Given the description of an element on the screen output the (x, y) to click on. 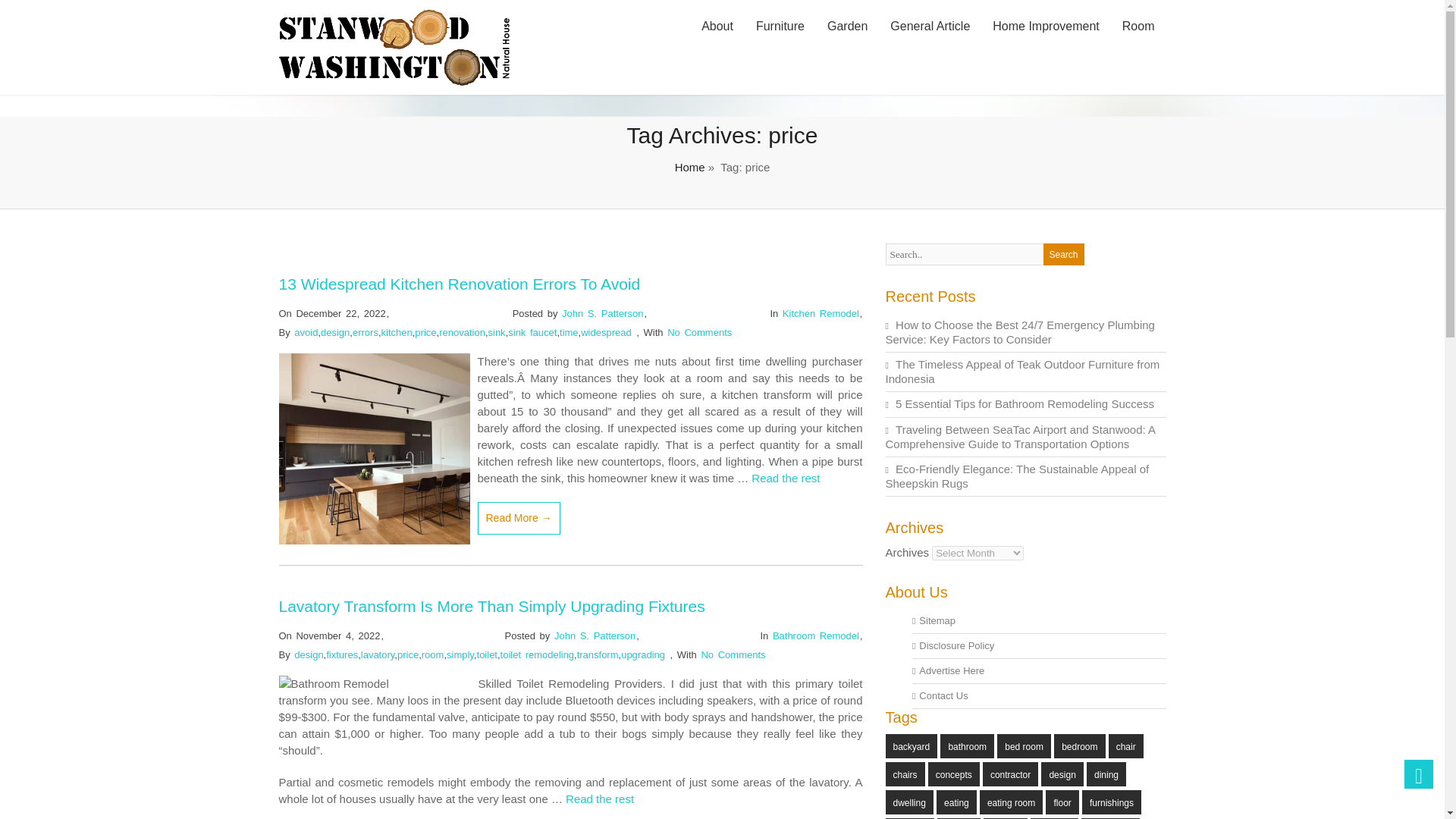
13 Widespread Kitchen Renovation Errors To Avoid (459, 283)
General Article (930, 26)
Home Improvement (1045, 26)
Posts by John S. Patterson (594, 635)
Stanwood Washington (394, 81)
Posts by John S. Patterson (602, 313)
Furniture (779, 26)
About (717, 26)
Lavatory Transform Is More Than Simply Upgrading Fixtures (491, 606)
Garden (847, 26)
